Given the description of an element on the screen output the (x, y) to click on. 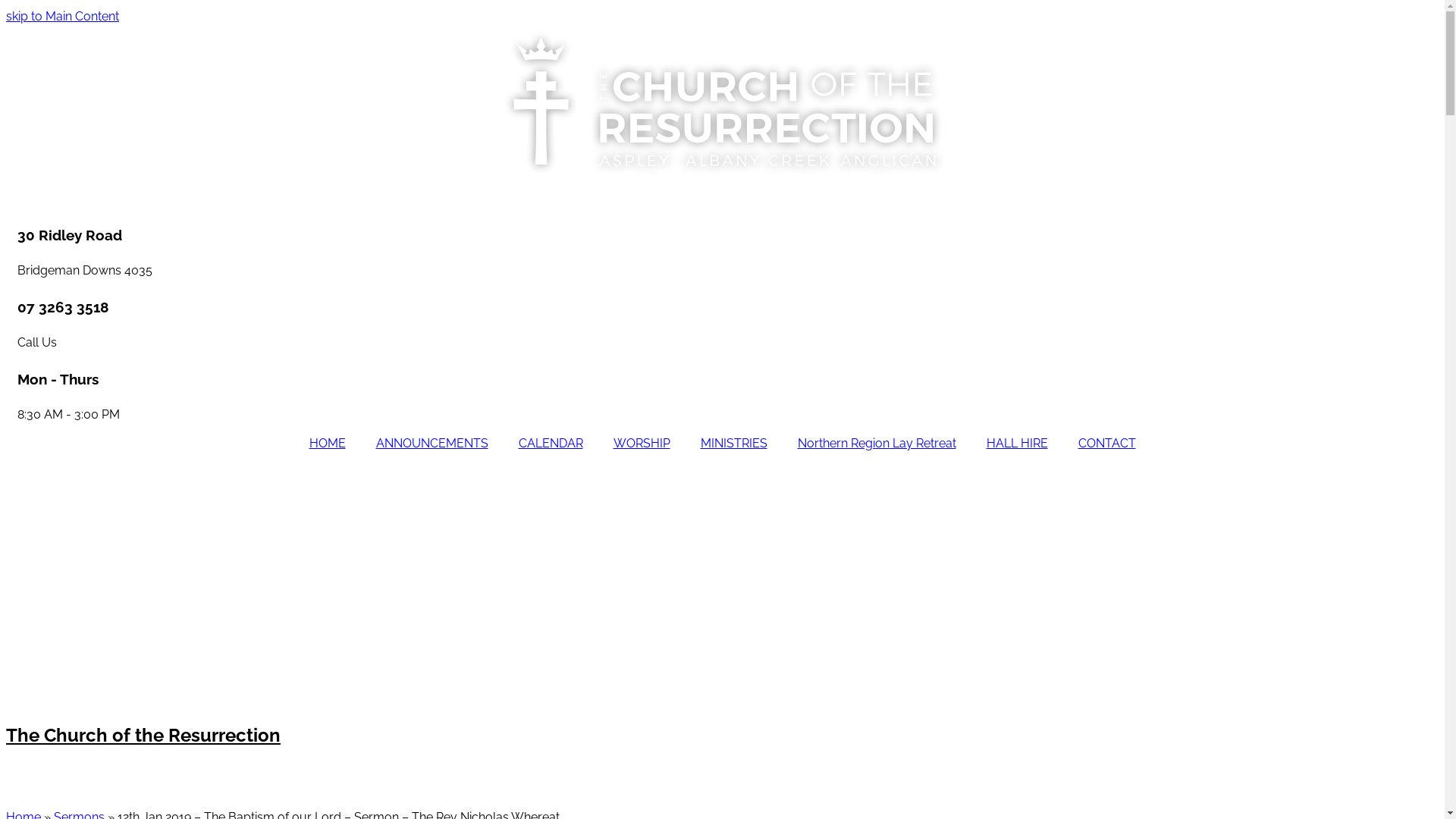
CALENDAR Element type: text (550, 443)
HALL HIRE Element type: text (1016, 443)
HOME Element type: text (327, 443)
Northern Region Lay Retreat Element type: text (876, 443)
CONTACT Element type: text (1107, 443)
skip to Main Content Element type: text (62, 16)
The Church of the Resurrection Element type: text (143, 735)
WORSHIP Element type: text (640, 443)
ANNOUNCEMENTS Element type: text (431, 443)
MINISTRIES Element type: text (733, 443)
